Given the description of an element on the screen output the (x, y) to click on. 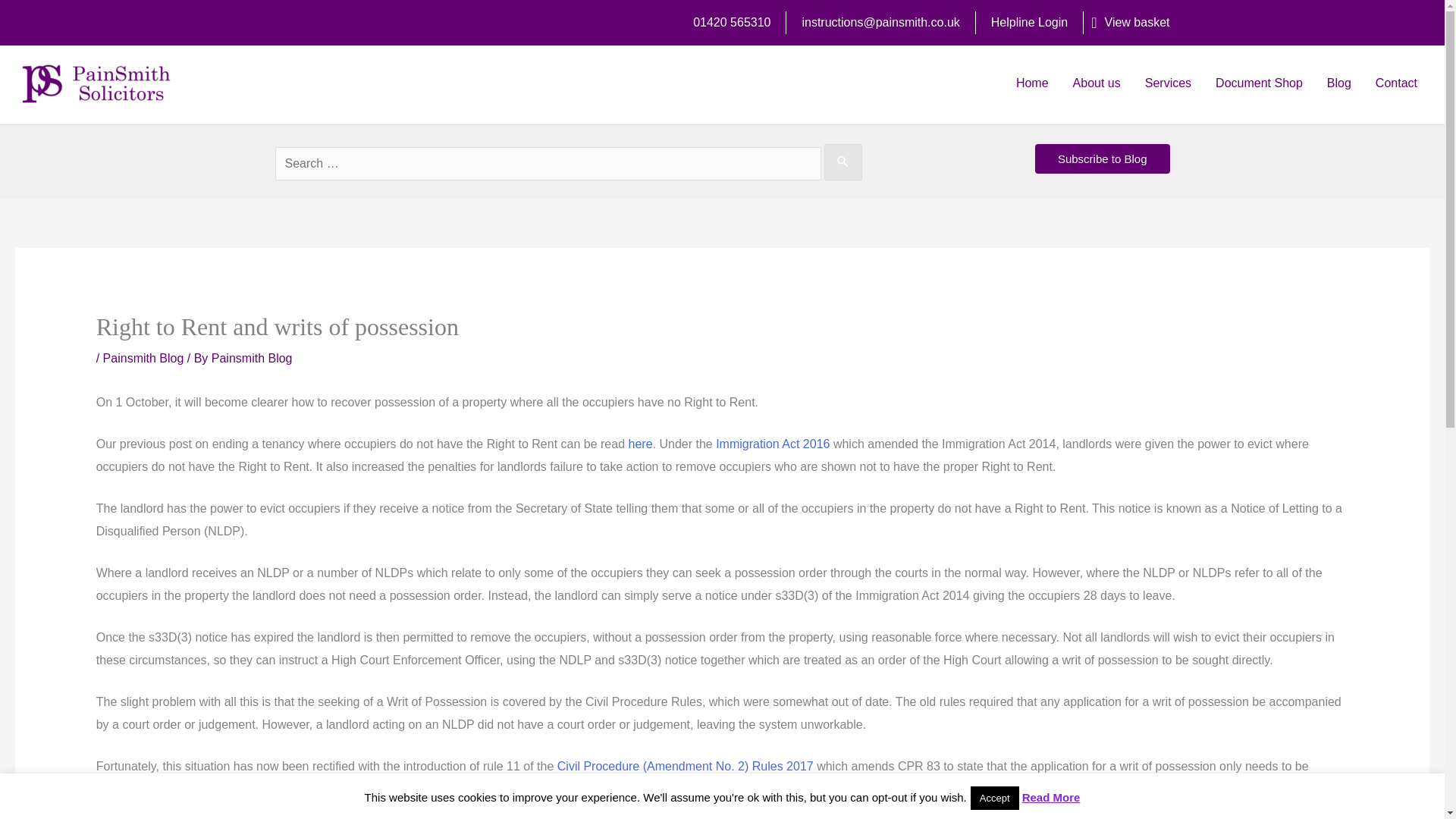
Painsmith Blog (143, 358)
Painsmith Blog (251, 358)
View all posts by Painsmith Blog (251, 358)
About us (1096, 82)
Services (1168, 82)
Subscribe to Blog (1102, 158)
01420 565310 (731, 21)
Search (42, 24)
here (639, 443)
Document Shop (1259, 82)
